Given the description of an element on the screen output the (x, y) to click on. 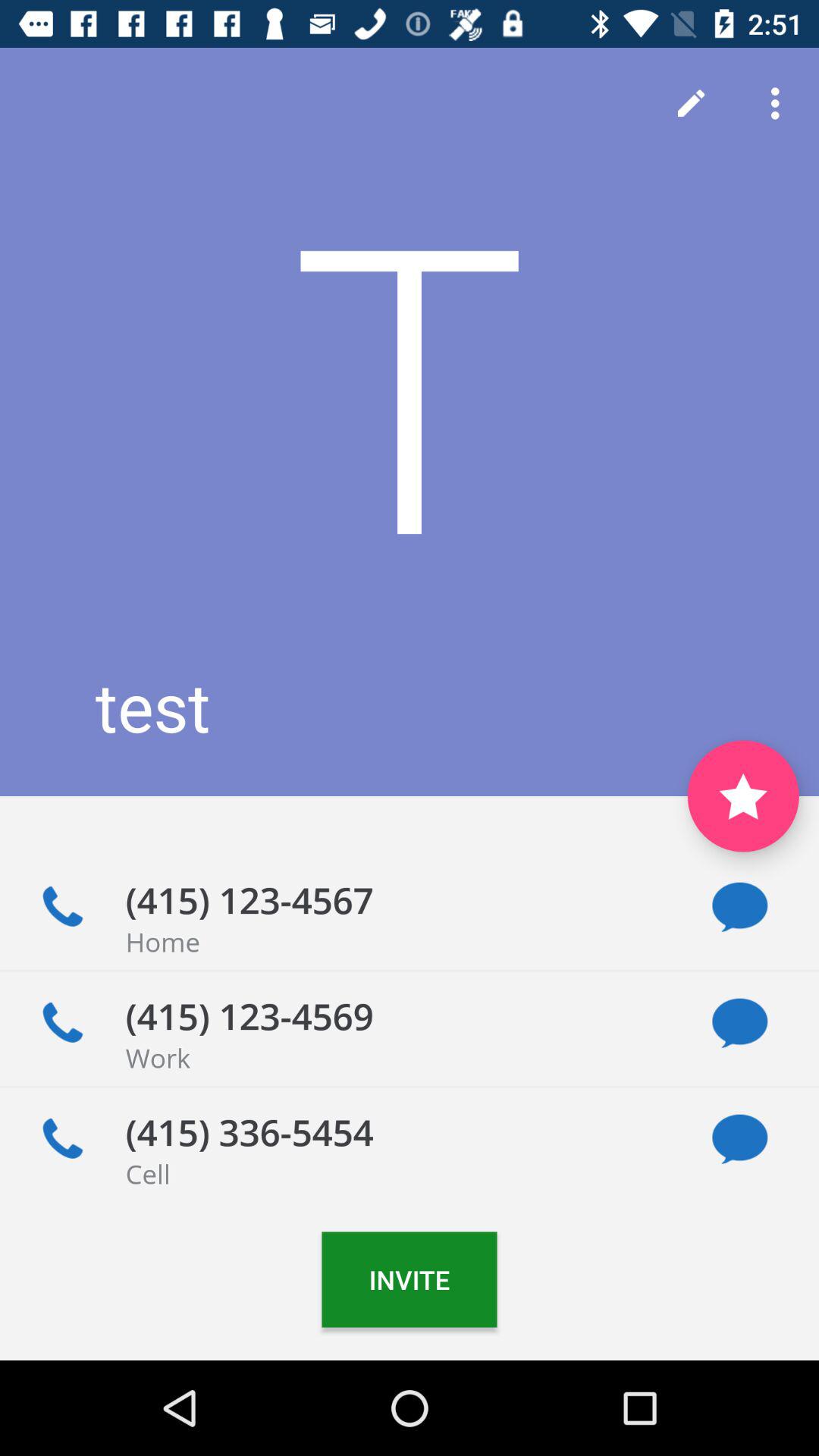
calling (62, 907)
